Given the description of an element on the screen output the (x, y) to click on. 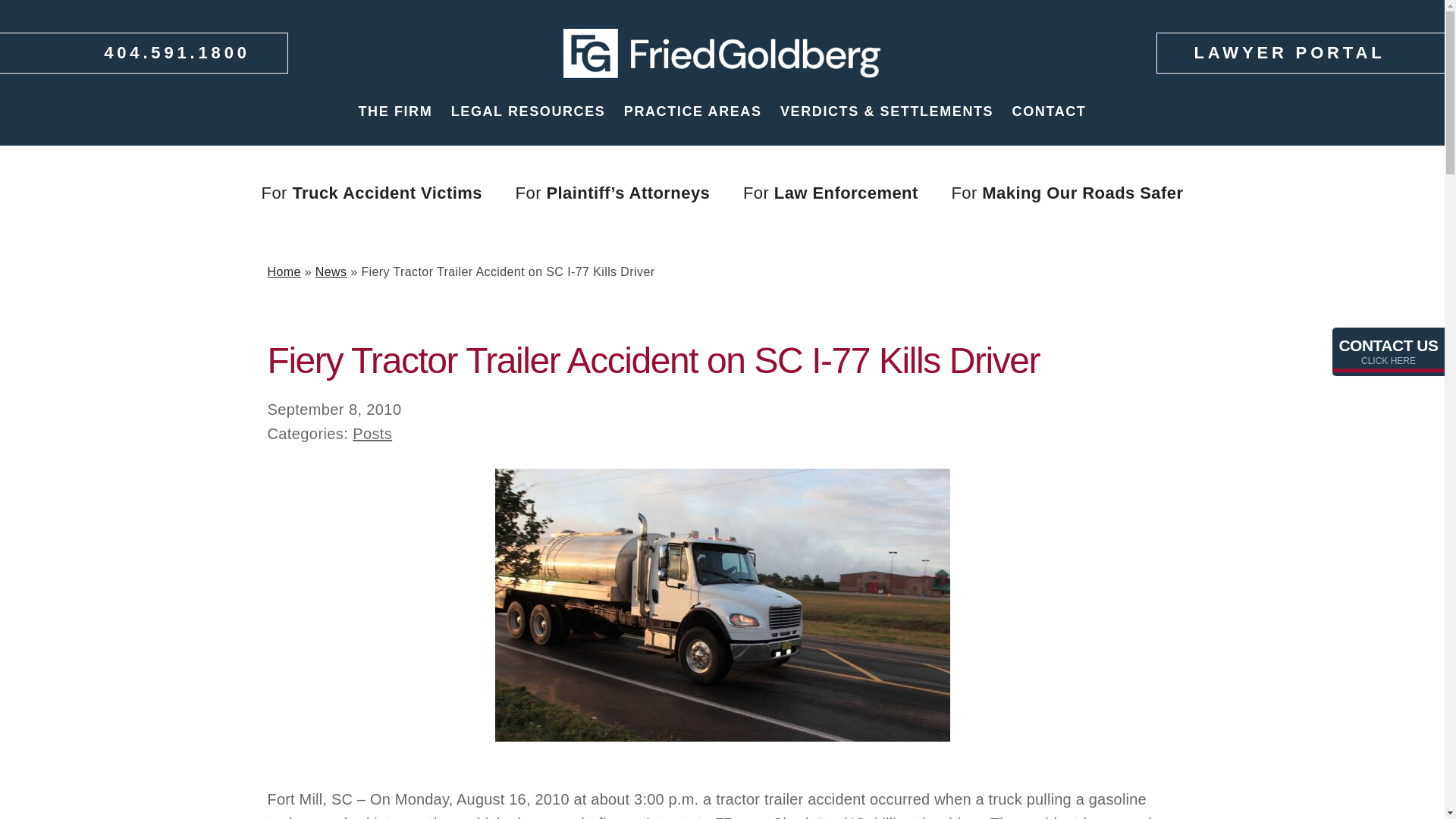
LEGAL RESOURCES (528, 111)
THE FIRM (395, 111)
PRACTICE AREAS (692, 111)
